Given the description of an element on the screen output the (x, y) to click on. 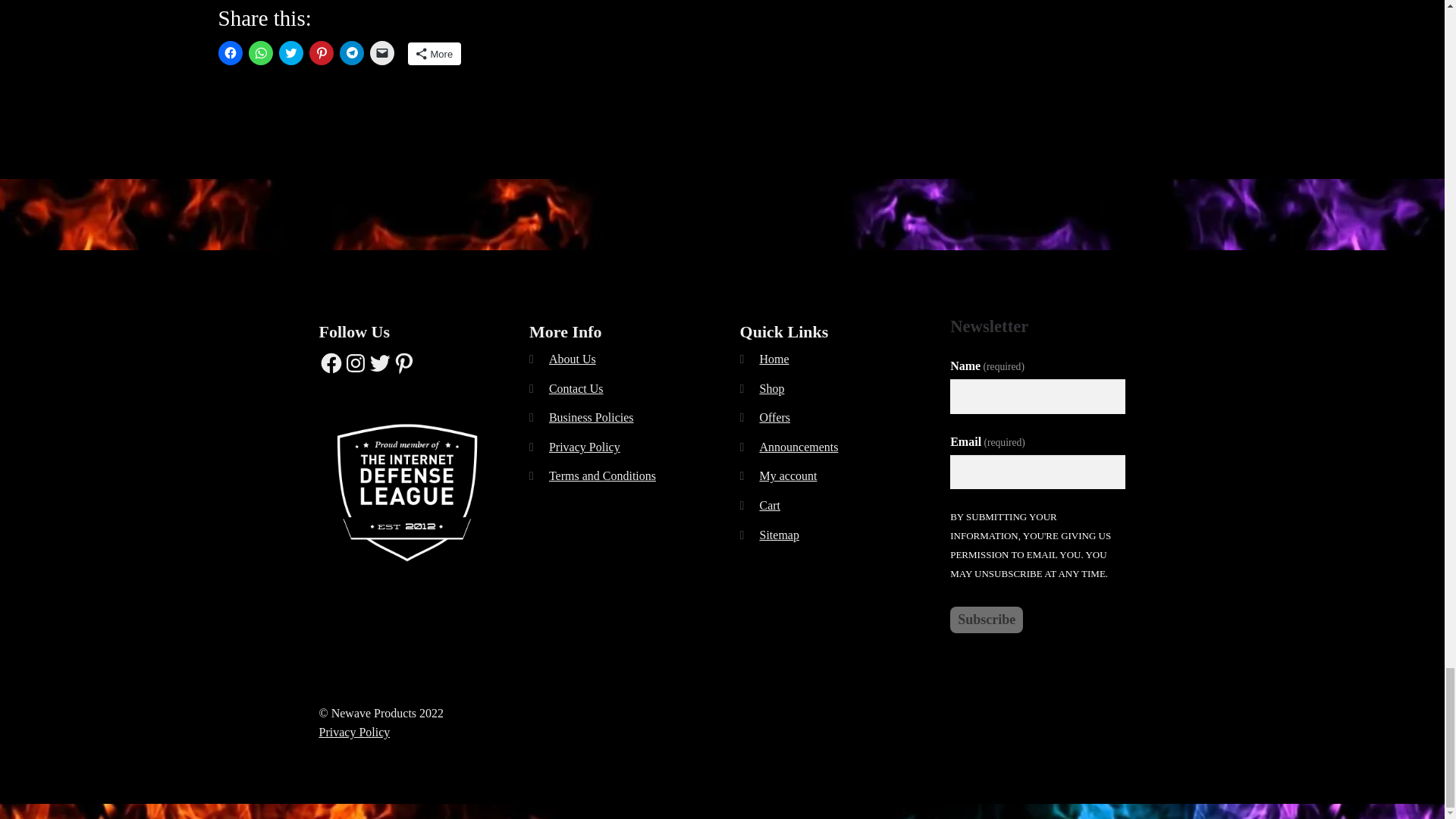
Click to share on Pinterest (320, 52)
Click to share on Facebook (230, 52)
Click to share on WhatsApp (260, 52)
Click to share on Twitter (290, 52)
